Given the description of an element on the screen output the (x, y) to click on. 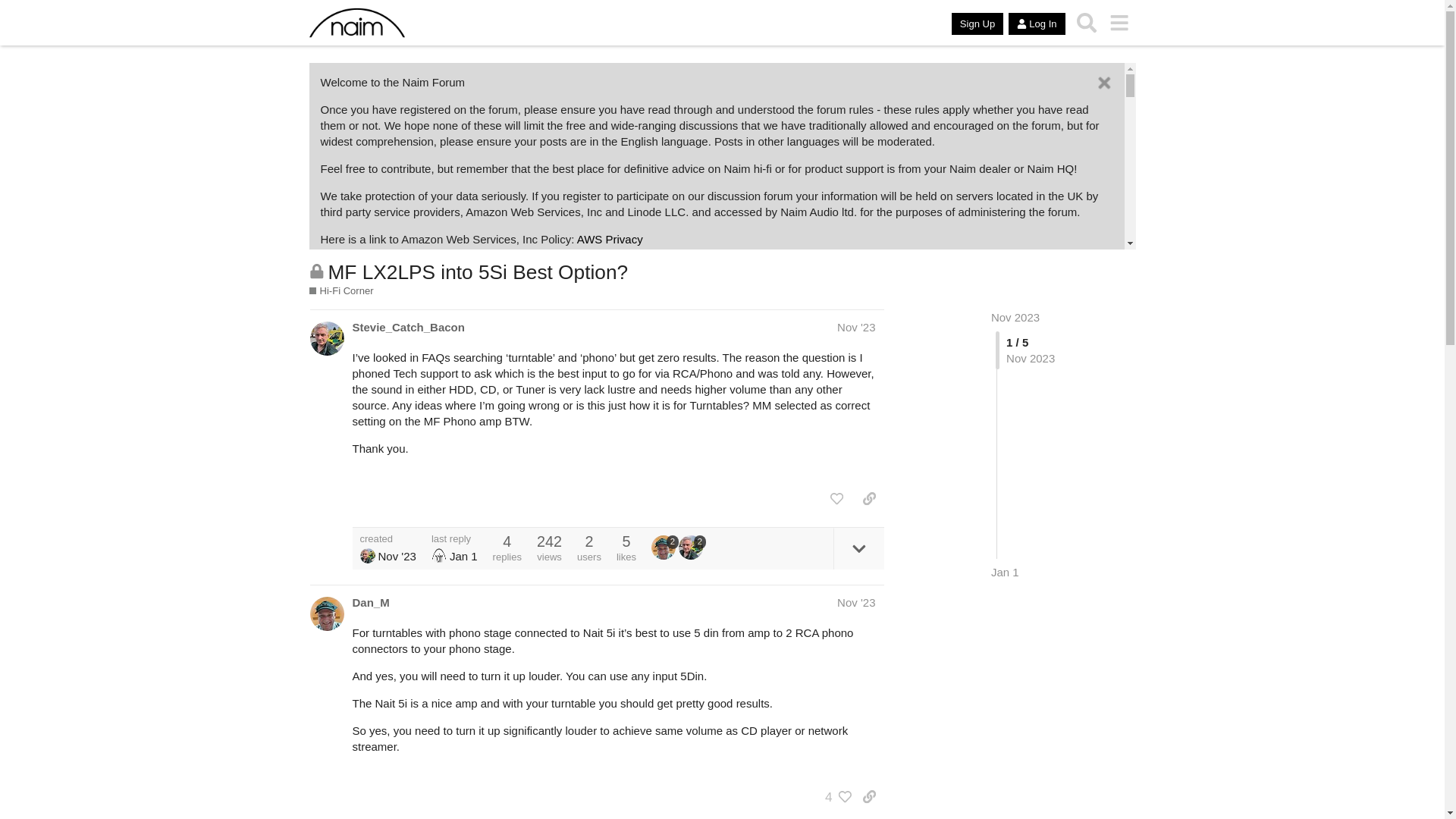
Nov 2023 (1015, 317)
Sign Up (977, 24)
Nov 1, 2023 2:59 am (395, 555)
Jan 1, 2024 2:53 am (463, 555)
Nov '23 (856, 327)
menu (1119, 22)
Post date (856, 327)
last reply (453, 538)
Jan 1 (1005, 571)
share a link to this post (869, 498)
Dismiss this banner (1104, 82)
like this post (836, 498)
expand topic details (857, 548)
system (438, 555)
MF LX2LPS into 5Si Best Option? (477, 272)
